Given the description of an element on the screen output the (x, y) to click on. 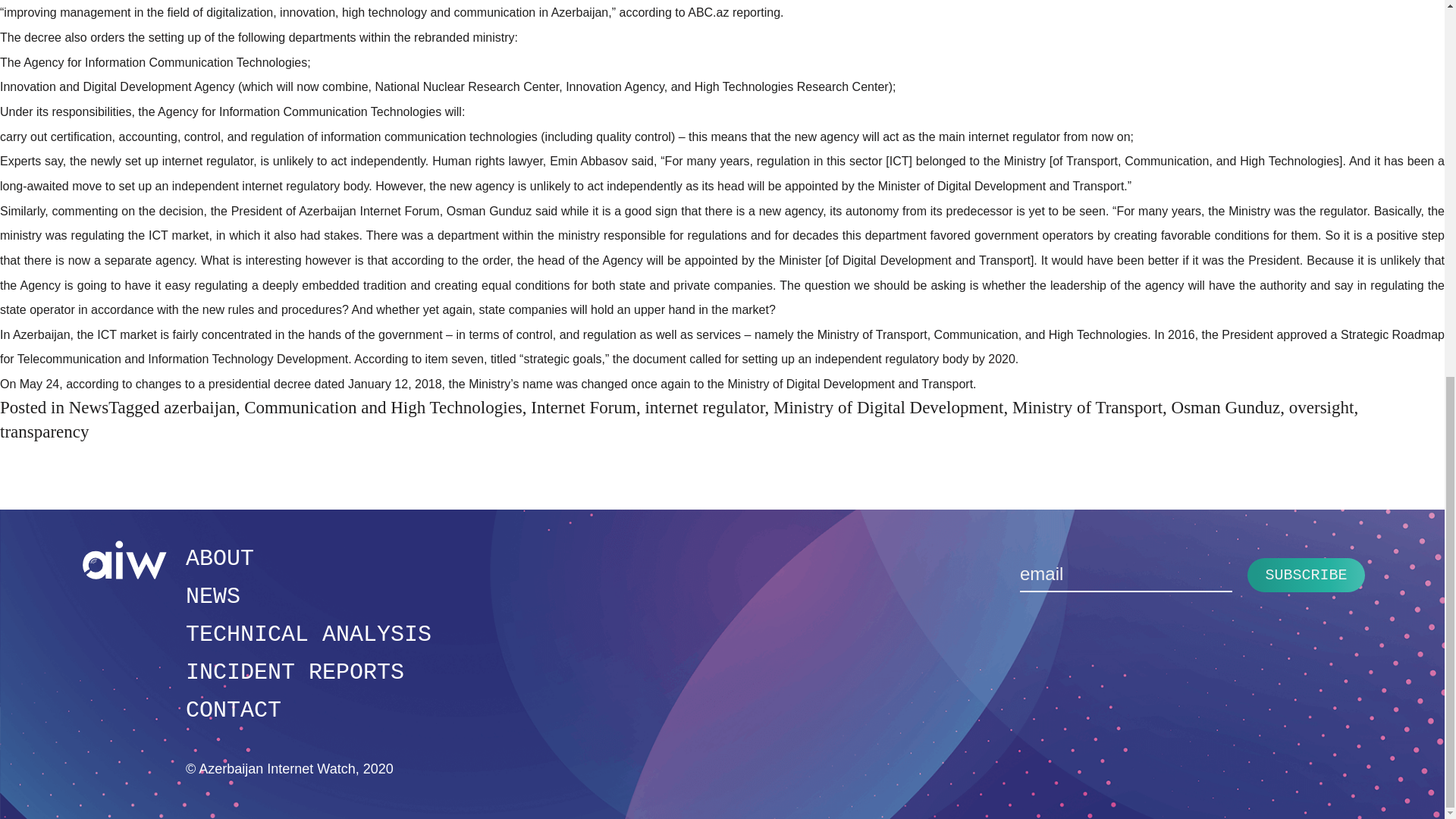
concentrated (237, 334)
TECHNICAL ANALYSIS (308, 634)
News (87, 407)
oversight (1321, 407)
Osman Gunduz (1226, 407)
NEWS (213, 596)
Subscribe (1306, 574)
INCIDENT REPORTS (295, 672)
according (91, 383)
Ministry of Digital Development (888, 407)
Ministry of Transport (1086, 407)
transparency (44, 431)
Subscribe (1306, 574)
Communication and High Technologies (383, 407)
commenting (83, 210)
